Given the description of an element on the screen output the (x, y) to click on. 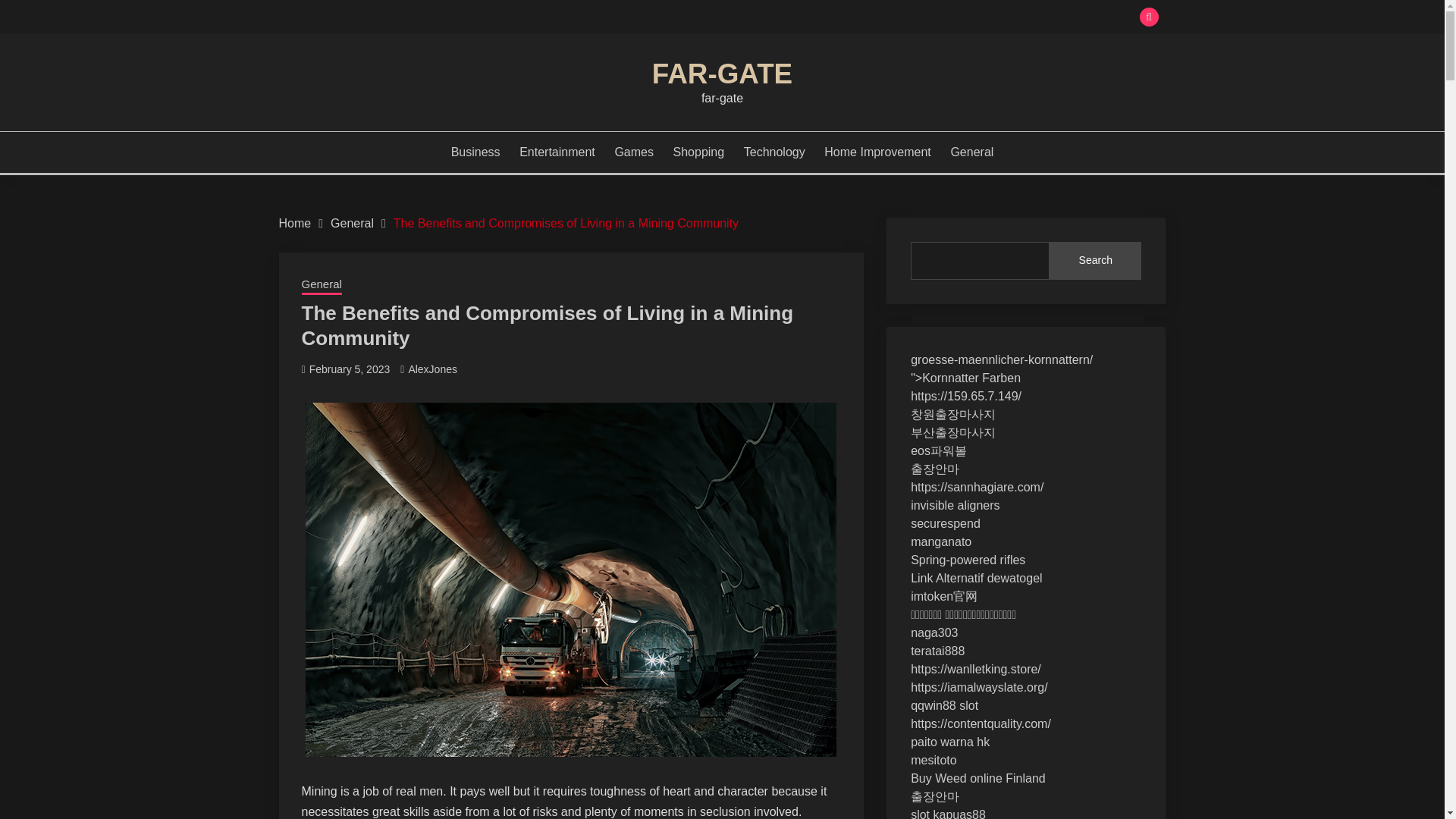
FAR-GATE (722, 73)
Home (295, 223)
The Benefits and Compromises of Living in a Mining Community (565, 223)
General (971, 152)
General (352, 223)
Entertainment (557, 152)
Business (475, 152)
Shopping (698, 152)
February 5, 2023 (349, 369)
AlexJones (432, 369)
